Given the description of an element on the screen output the (x, y) to click on. 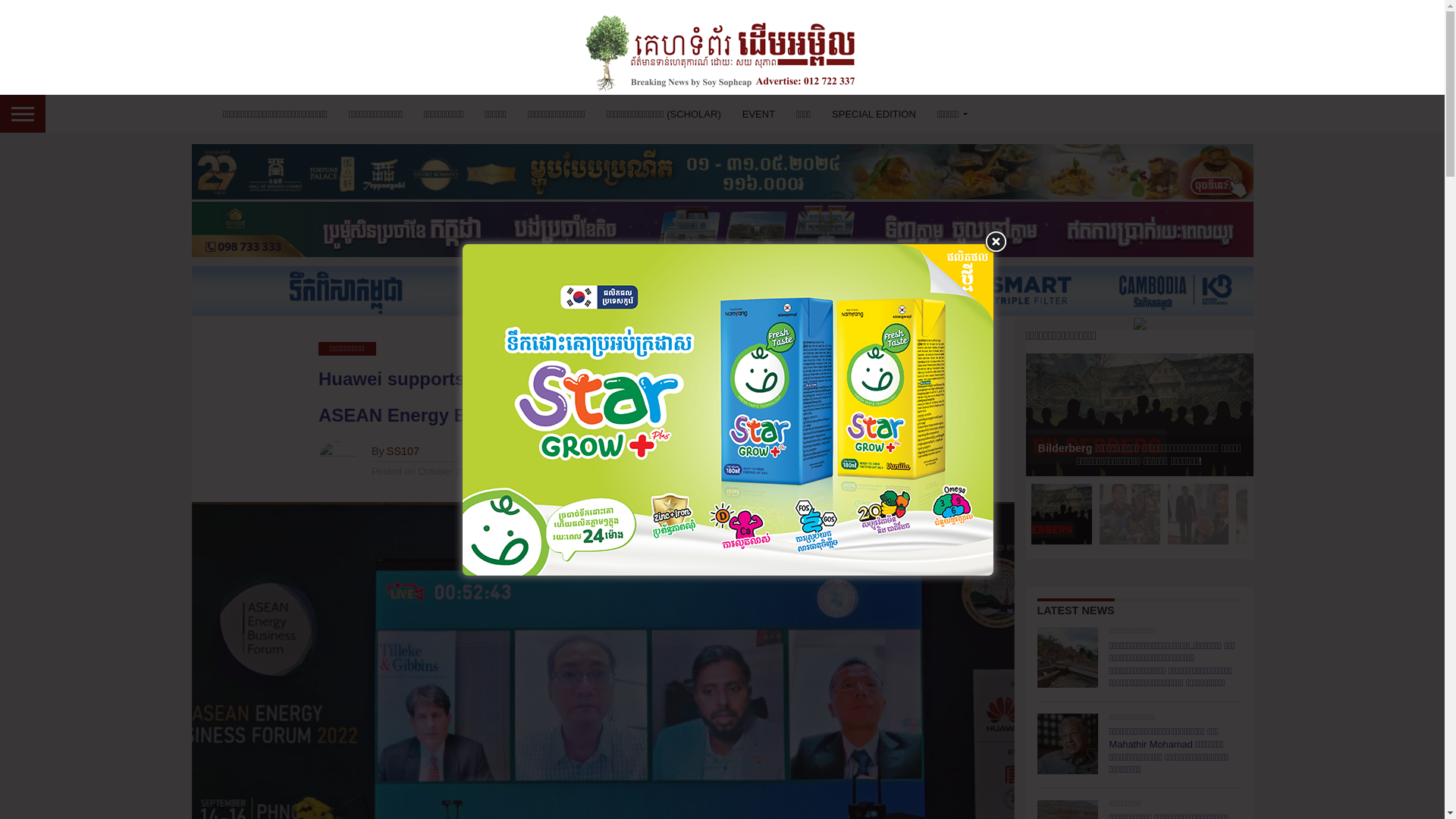
SPECIAL EDITION (873, 113)
Posts by SS107 (403, 451)
Close (995, 241)
EVENT (759, 113)
